Given the description of an element on the screen output the (x, y) to click on. 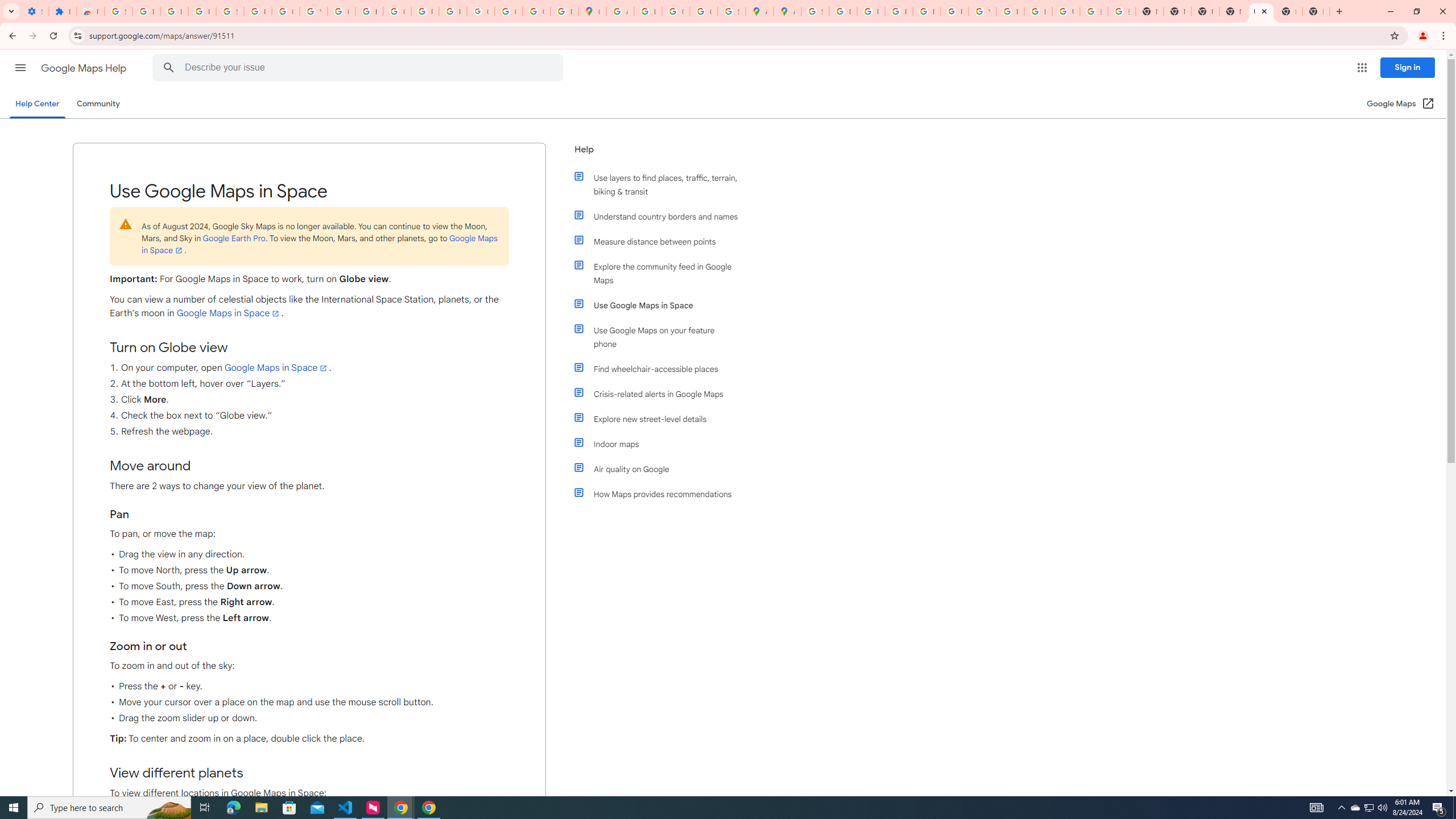
Use Google Maps on your feature phone (661, 336)
Measure distance between points (661, 241)
Explore new street-level details (661, 419)
New Tab (1233, 11)
Main menu (20, 67)
Sign in - Google Accounts (229, 11)
Settings - On startup (34, 11)
Community (97, 103)
